Given the description of an element on the screen output the (x, y) to click on. 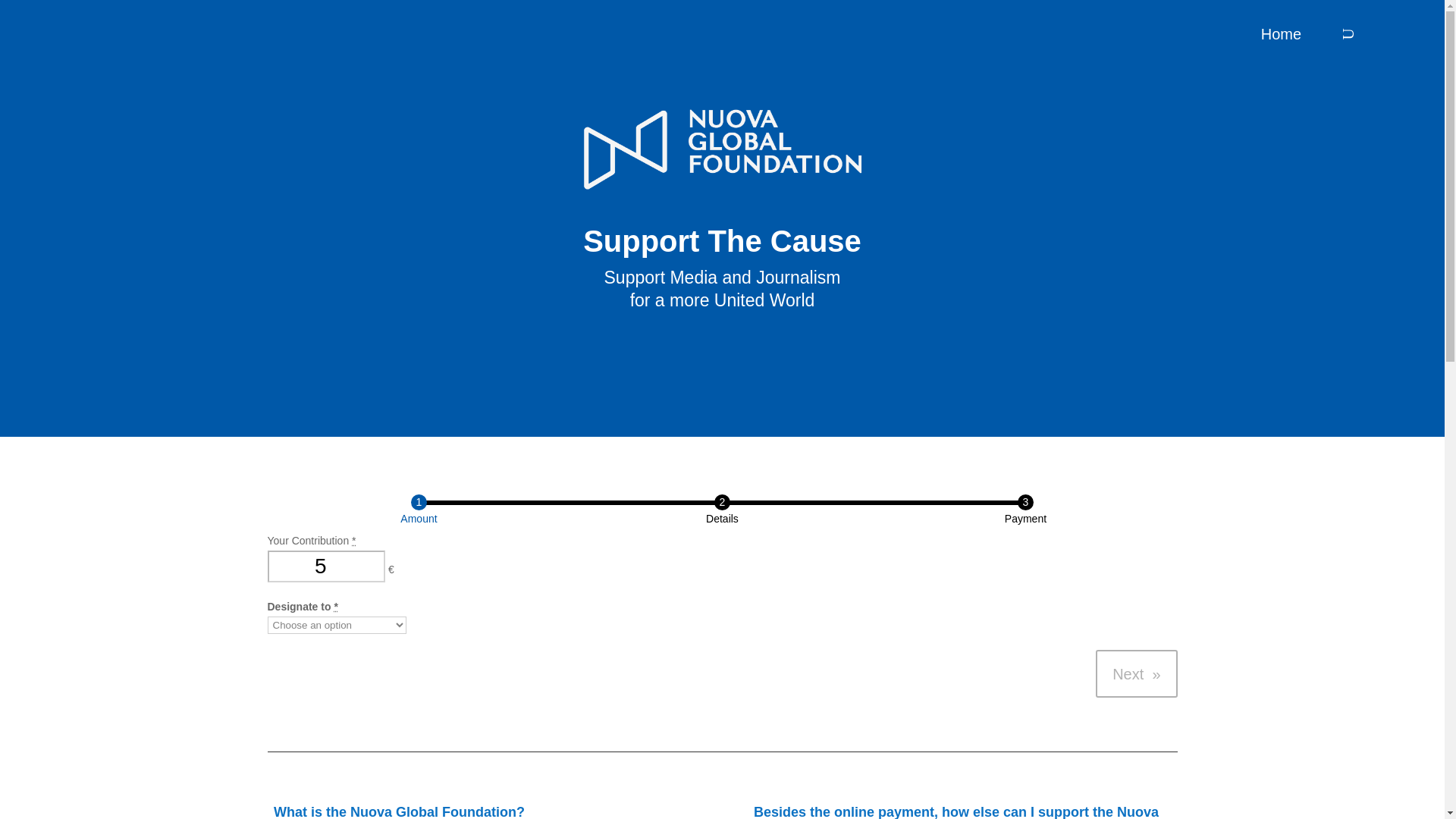
5 (325, 566)
Nuova-Global-Foundation-Logow (722, 148)
Home (1280, 36)
247578 (16, 6)
